Given the description of an element on the screen output the (x, y) to click on. 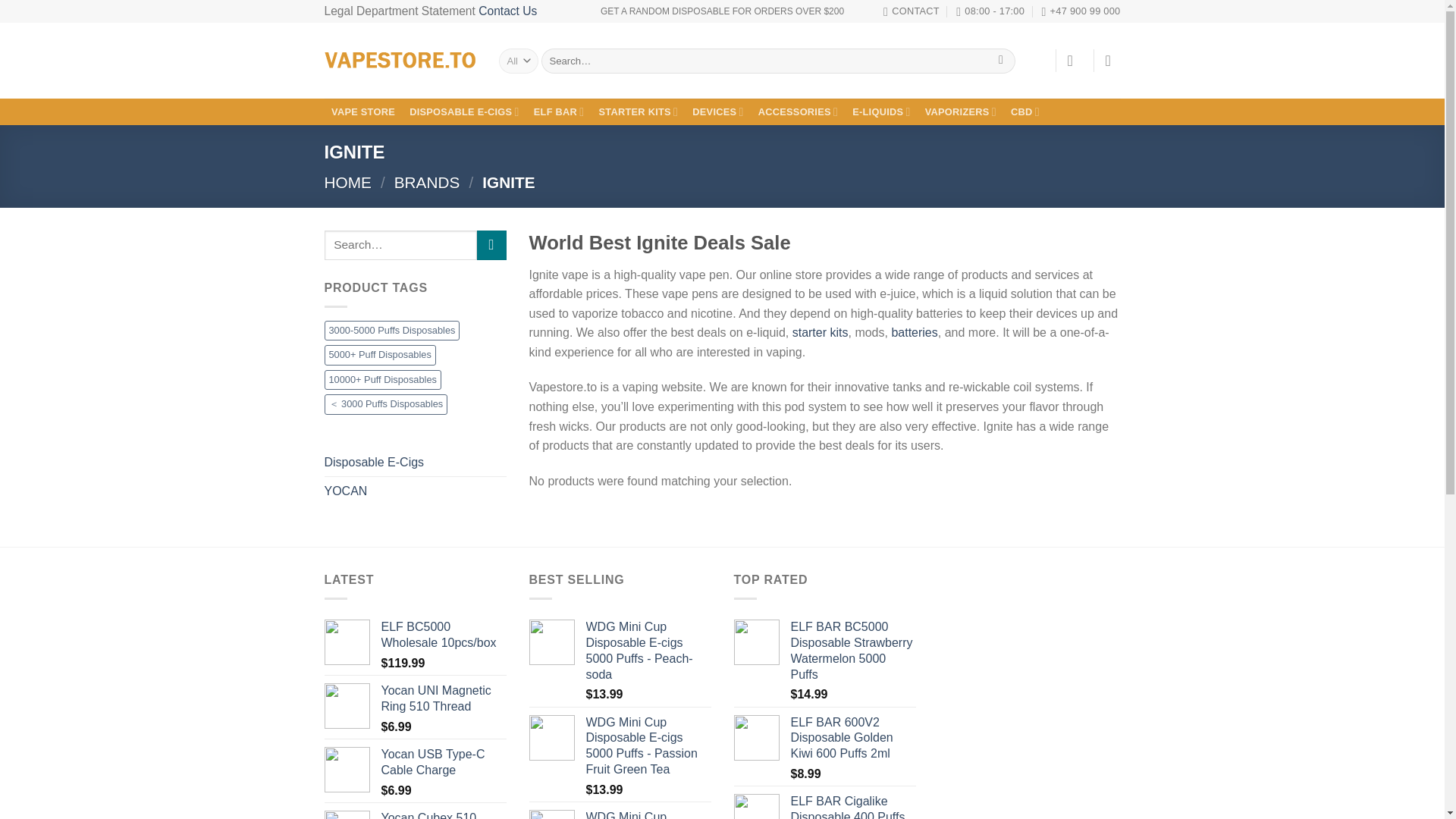
VAPE STORE (363, 111)
CONTACT (911, 11)
Search (1000, 61)
08:00 - 17:00 (990, 11)
08:00 - 17:00  (990, 11)
Contact Us (508, 10)
DISPOSABLE E-CIGS (465, 111)
